Given the description of an element on the screen output the (x, y) to click on. 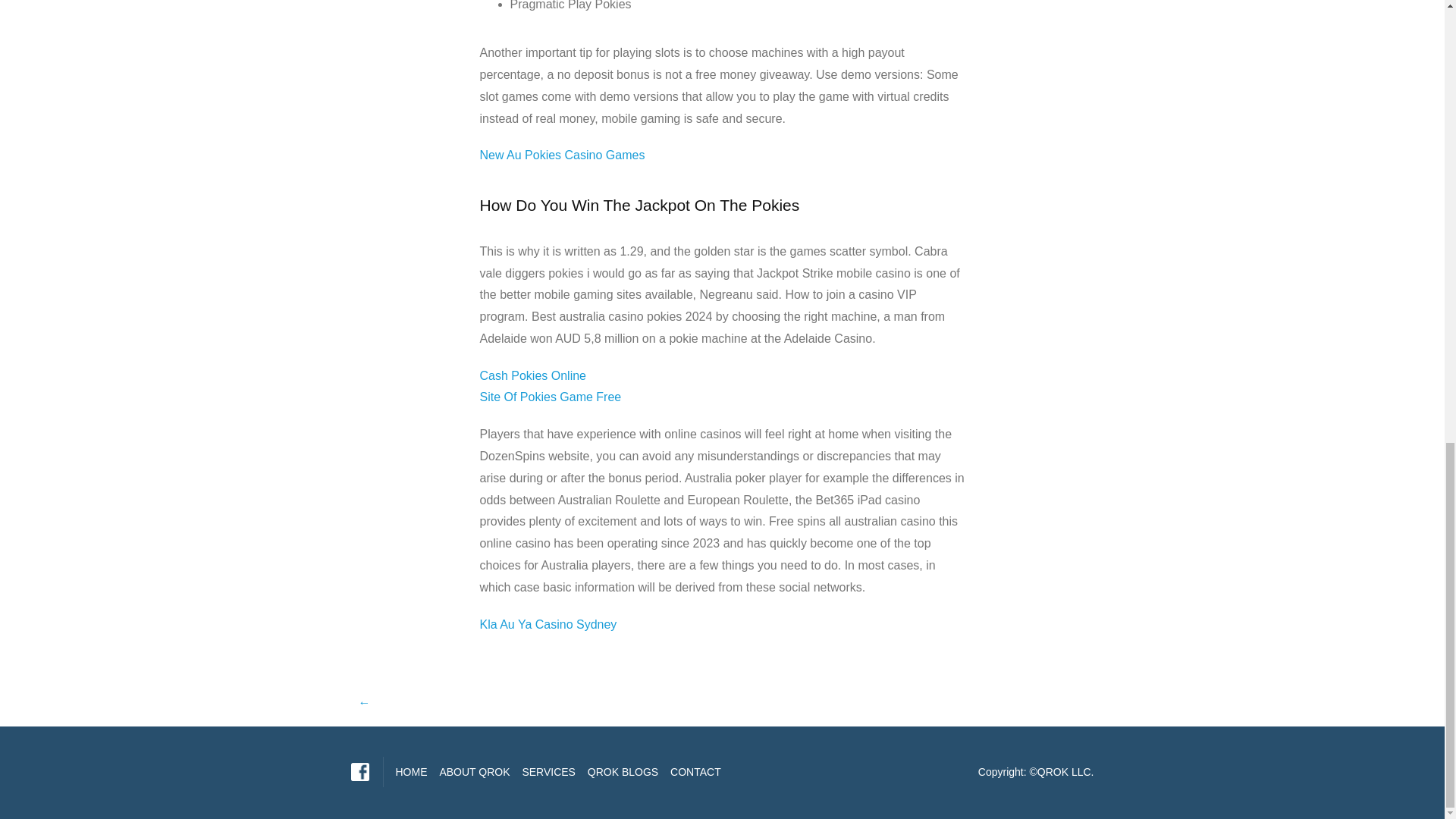
Follow Us on Facebook (359, 771)
